Given the description of an element on the screen output the (x, y) to click on. 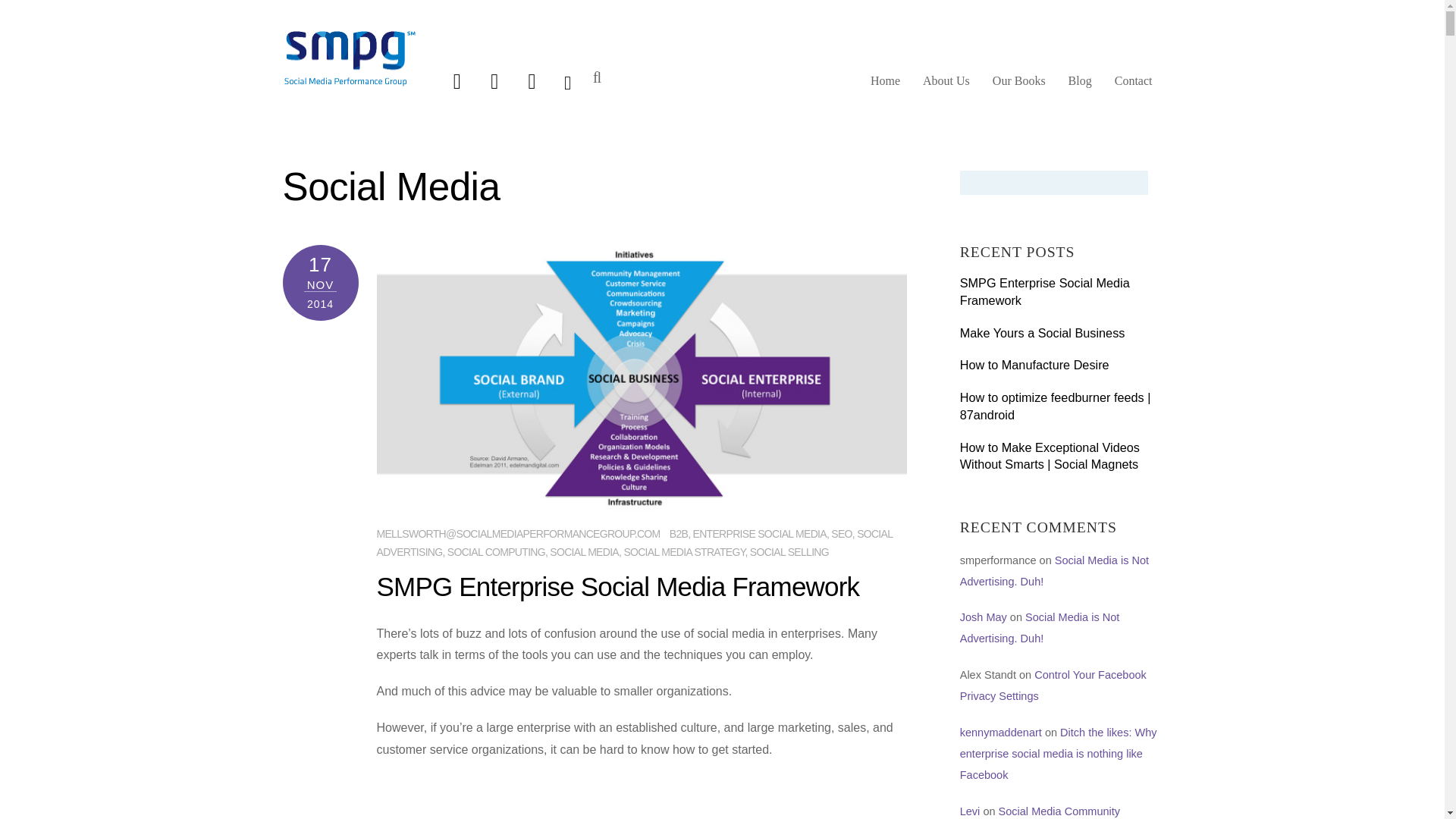
SOCIAL MEDIA STRATEGY (683, 551)
Facebook (494, 80)
About Us (945, 86)
SOCIAL MEDIA (584, 551)
Our Books (1018, 86)
SOCIAL ADVERTISING (633, 542)
Home (885, 86)
SMPG Enterprise Social Media Framework (617, 586)
B2B (678, 533)
ENTERPRISE SOCIAL MEDIA (760, 533)
